Given the description of an element on the screen output the (x, y) to click on. 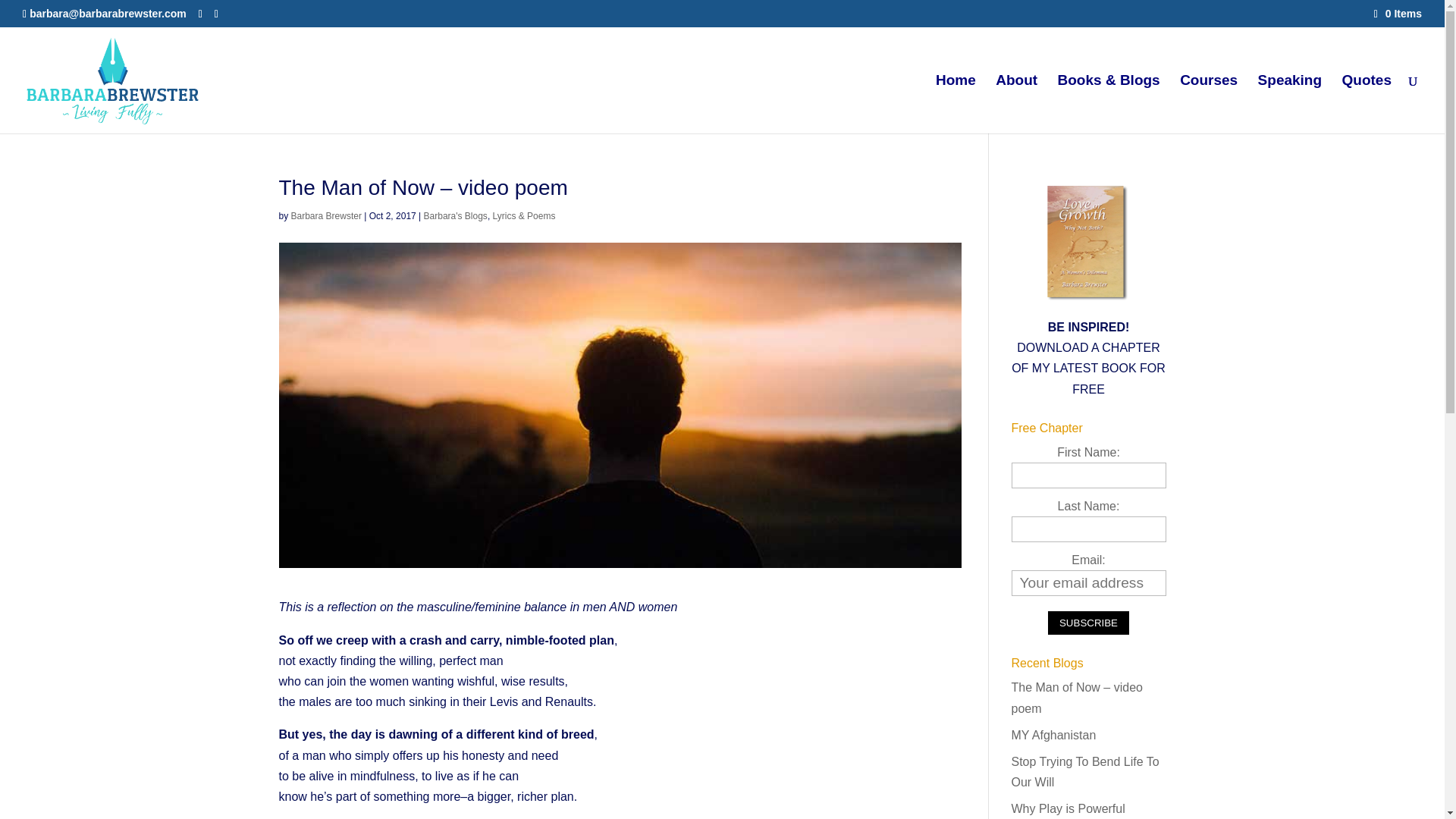
Quotes (1366, 104)
MY Afghanistan (1053, 735)
Subscribe (1088, 622)
Posts by Barbara Brewster (326, 215)
About (1015, 104)
Barbara Brewster (326, 215)
Courses (1208, 104)
Subscribe (1088, 622)
Stop Trying To Bend Life To Our Will (1084, 771)
0 Items (1398, 13)
Barbara's Blogs (455, 215)
Home (955, 104)
Speaking (1289, 104)
Why Play is Powerful (1068, 808)
